Given the description of an element on the screen output the (x, y) to click on. 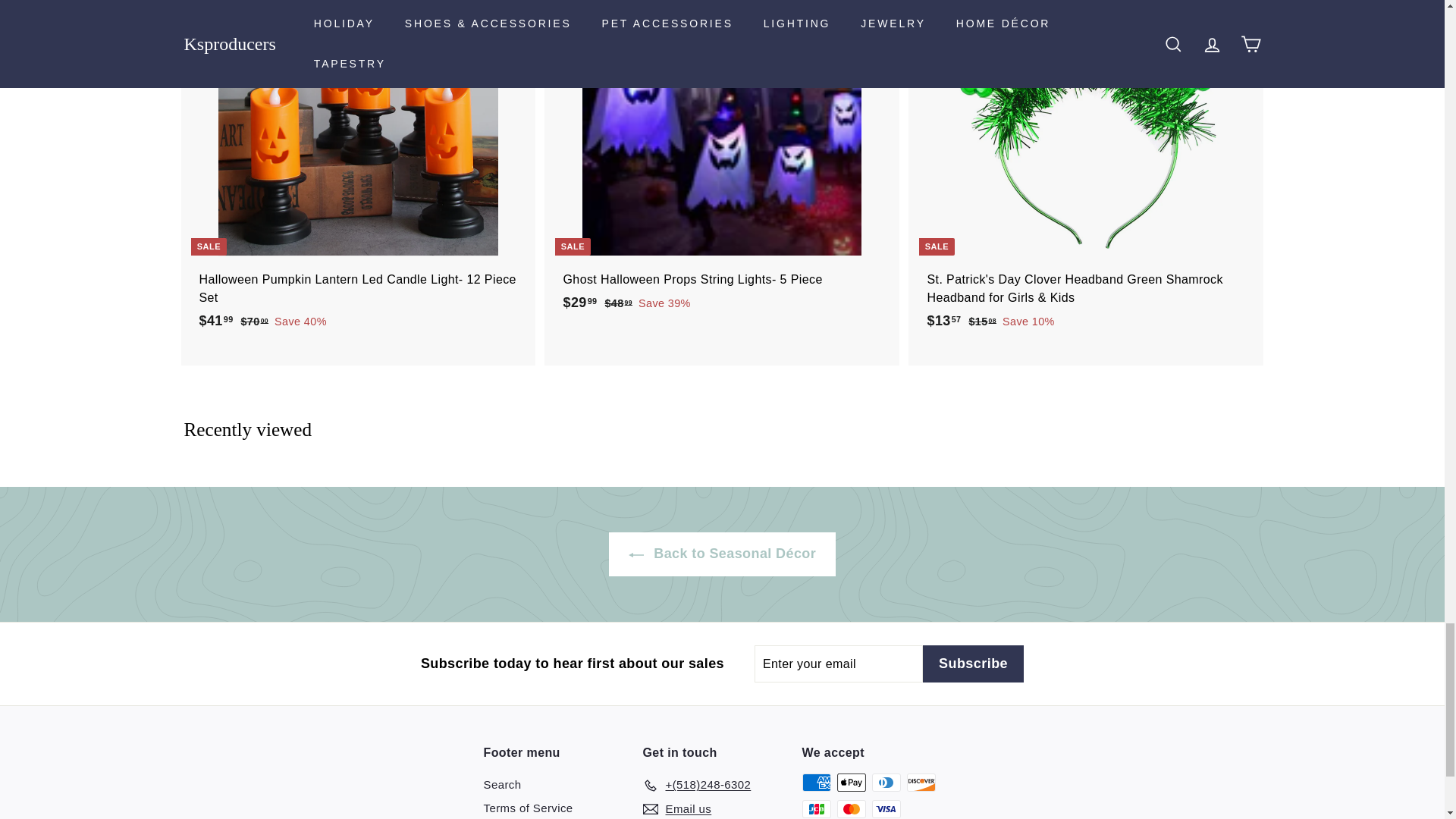
American Express (816, 782)
